Given the description of an element on the screen output the (x, y) to click on. 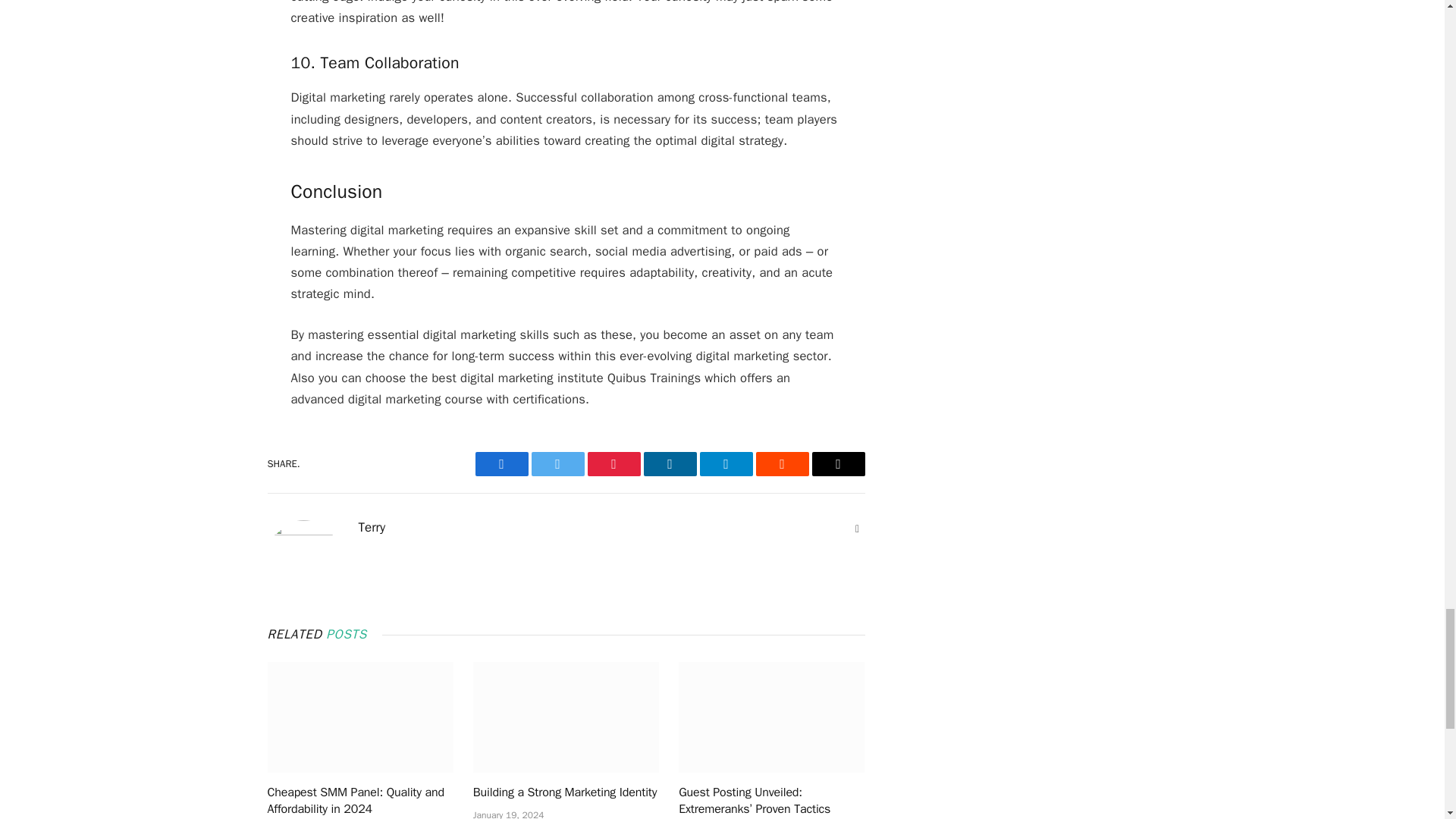
Pinterest (613, 463)
Reddit (781, 463)
LinkedIn (669, 463)
Telegram (725, 463)
Twitter (557, 463)
Facebook (500, 463)
